Given the description of an element on the screen output the (x, y) to click on. 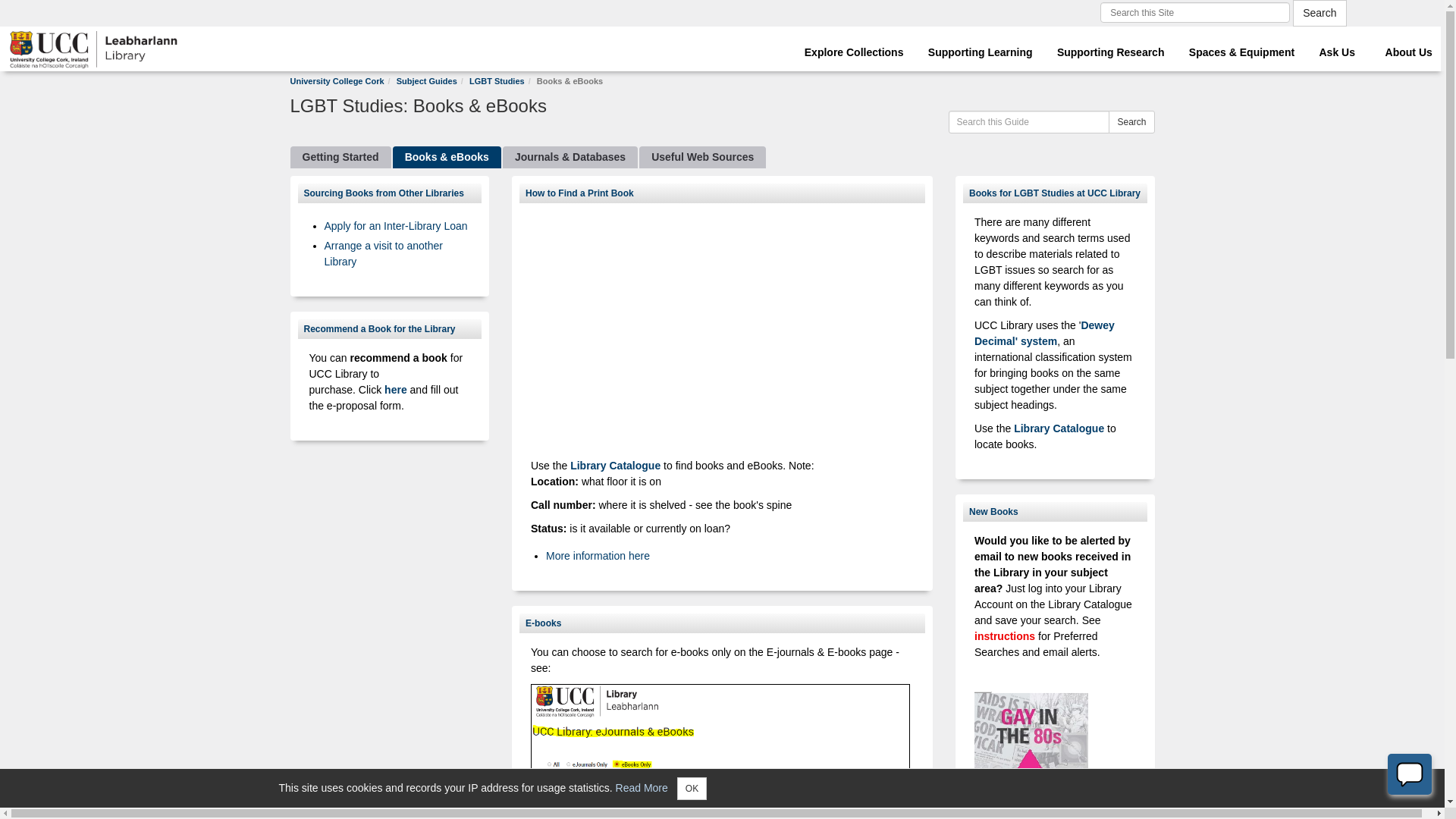
  About Us (1401, 47)
Search (1318, 13)
OK (691, 787)
Offline (1409, 773)
Offline (1409, 774)
Supporting Research (1107, 47)
Read More (641, 787)
Ask Us (1332, 47)
